Given the description of an element on the screen output the (x, y) to click on. 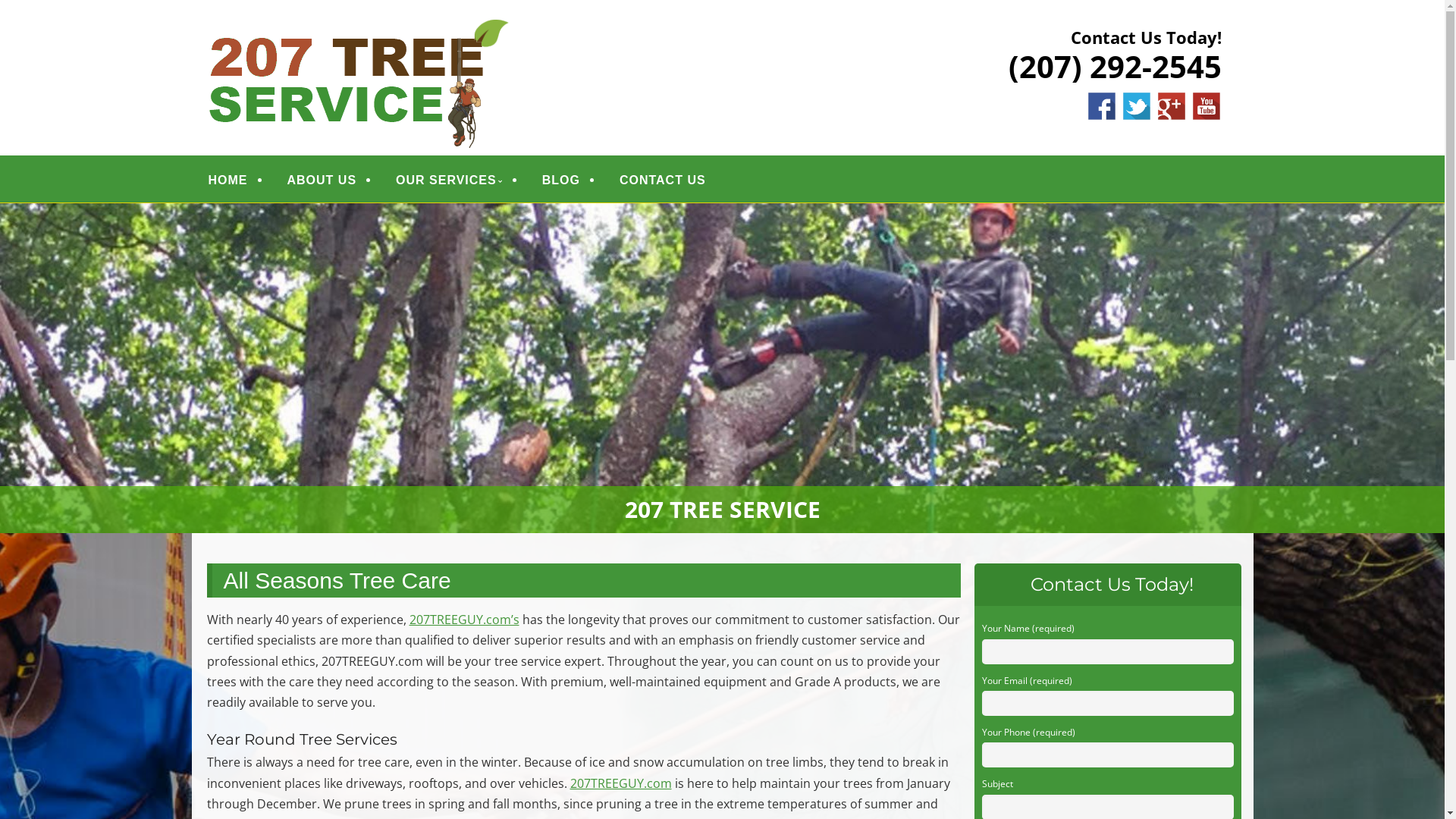
BLOG Element type: text (560, 178)
OUR SERVICES Element type: text (449, 178)
CONTACT US Element type: text (662, 178)
ABOUT US Element type: text (321, 178)
HOME Element type: text (227, 178)
207 Tree Service Element type: hover (722, 368)
207TREEGUY.com Element type: text (620, 783)
207 TREE SERVICE Element type: text (349, 32)
